Given the description of an element on the screen output the (x, y) to click on. 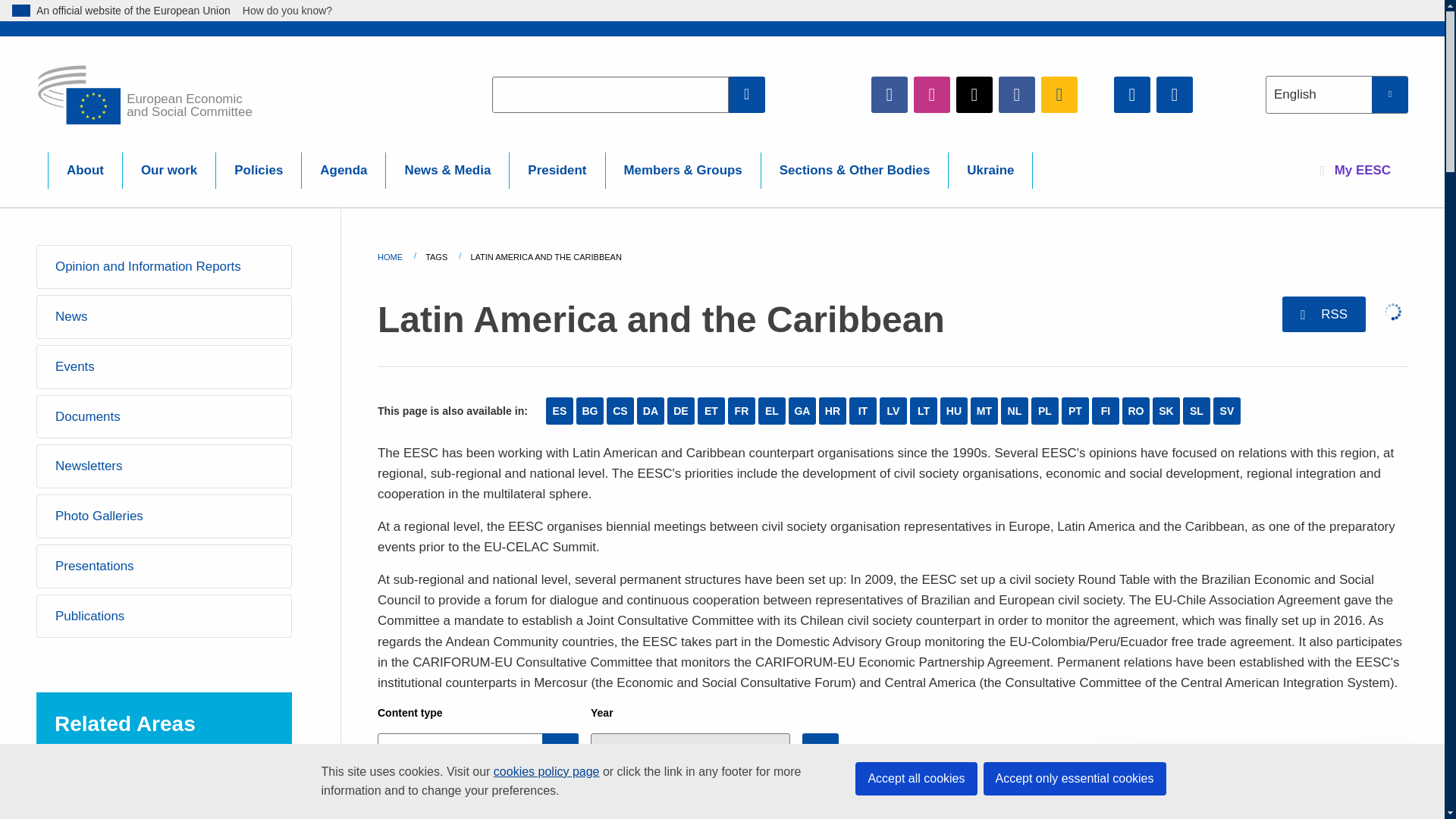
Accept all cookies (916, 778)
Accept only essential cookies (1074, 778)
Search EESC Website (747, 94)
cookies policy page (546, 771)
Apply (820, 751)
My EESC (1355, 170)
How do you know? (295, 10)
